Given the description of an element on the screen output the (x, y) to click on. 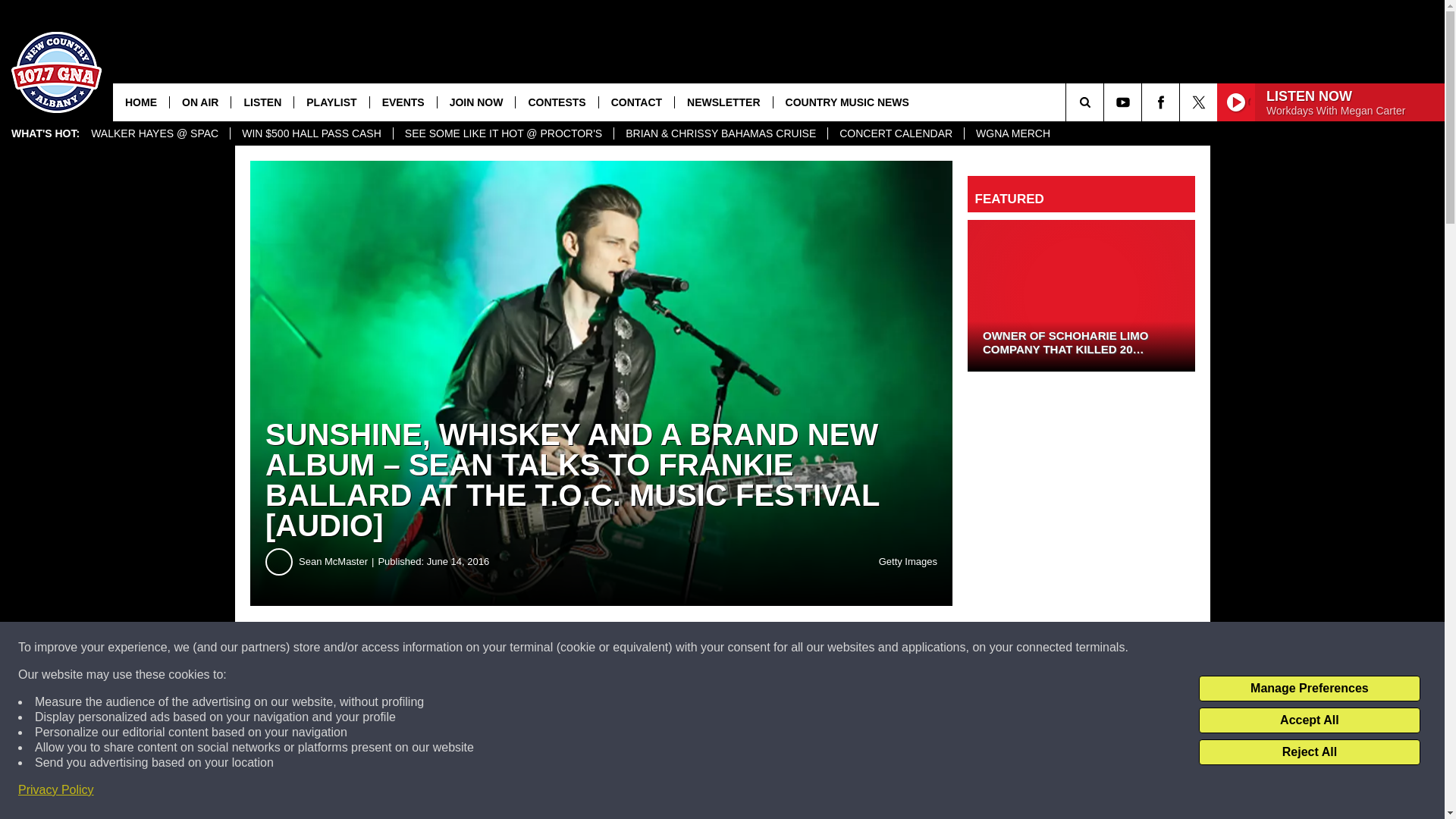
Share on Twitter (741, 647)
CONCERT CALENDAR (895, 133)
SEARCH (1106, 102)
ON AIR (199, 102)
PLAYLIST (331, 102)
HOME (140, 102)
Reject All (1309, 751)
LISTEN (262, 102)
EVENTS (402, 102)
Privacy Policy (55, 789)
